Given the description of an element on the screen output the (x, y) to click on. 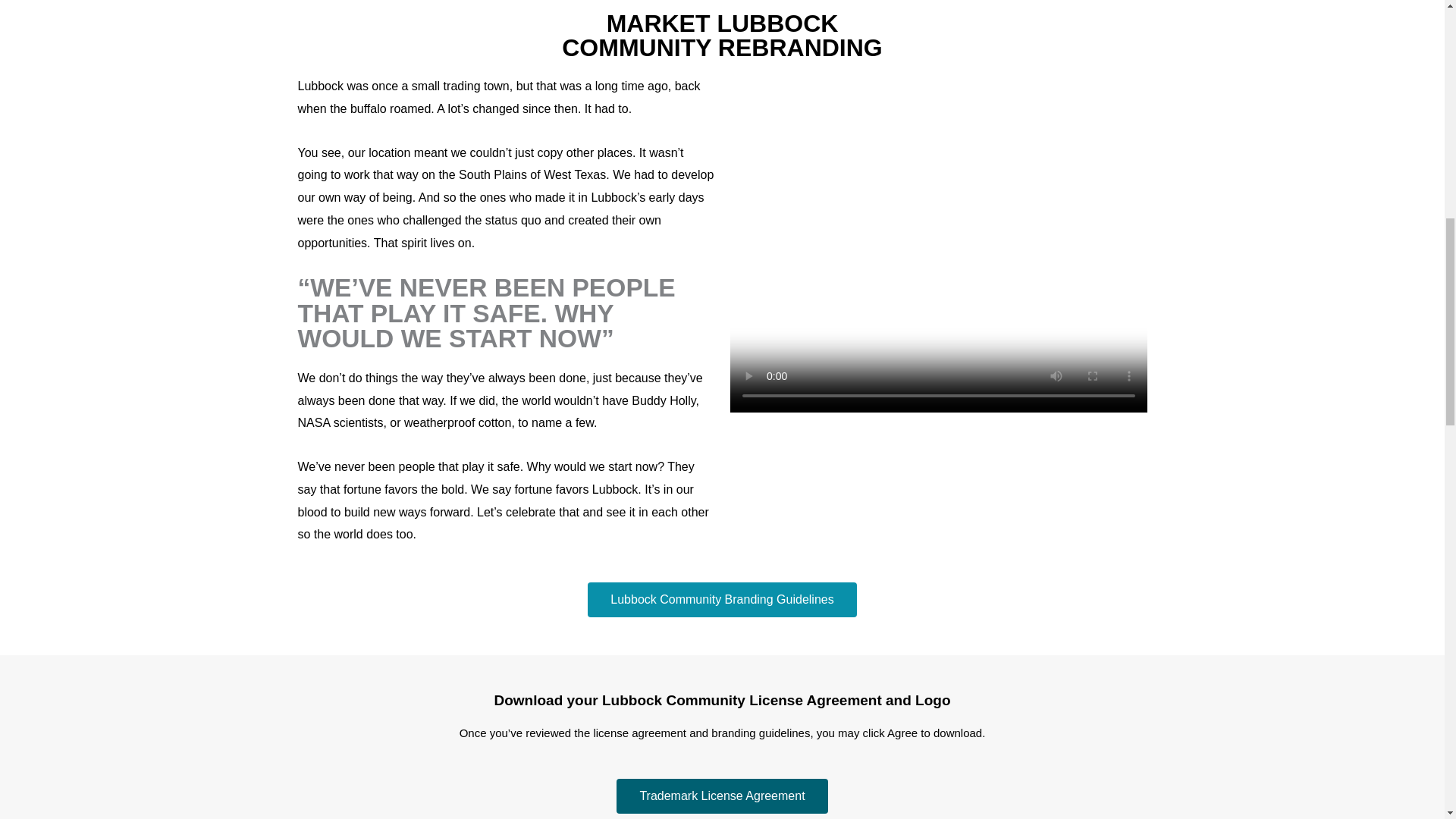
Trademark License Agreement (721, 796)
Lubbock Community Branding Guidelines (722, 599)
